Given the description of an element on the screen output the (x, y) to click on. 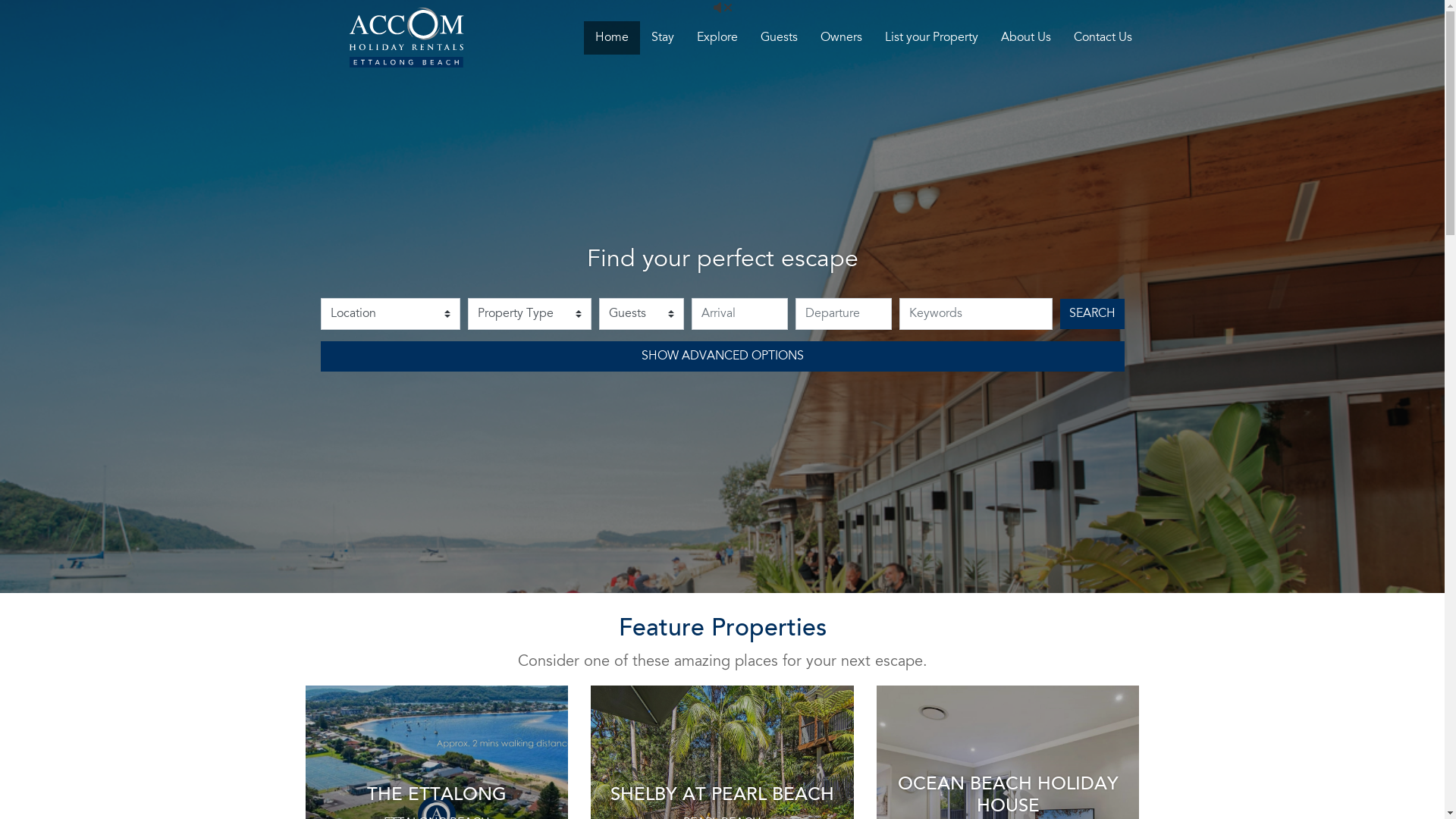
Owners Element type: text (840, 37)
Explore Element type: text (717, 37)
List your Property Element type: text (931, 37)
Guests Element type: text (779, 37)
About Us Element type: text (1024, 37)
Stay Element type: text (662, 37)
Search Element type: text (1092, 313)
Contact Us Element type: text (1101, 37)
Home Element type: text (611, 37)
